Given the description of an element on the screen output the (x, y) to click on. 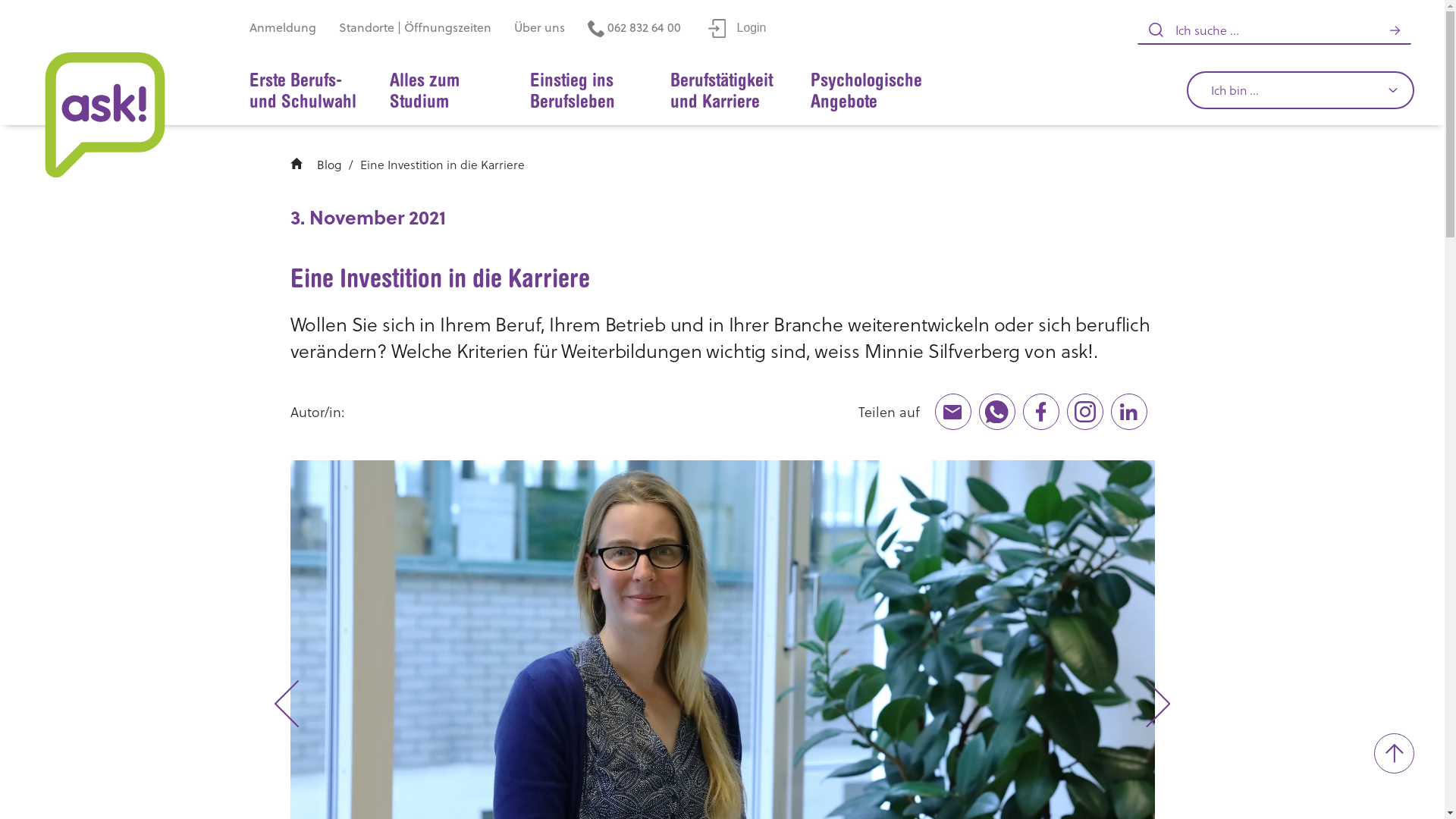
Alles zum Studium Element type: text (444, 91)
Login Element type: text (737, 27)
Erste Berufs- und Schulwahl Element type: text (304, 91)
Ich bin ... Element type: text (1300, 90)
Einstieg ins Berufsleben Element type: text (584, 91)
Login Element type: text (737, 28)
Blog Element type: text (329, 163)
062 832 64 00 Element type: text (633, 28)
Anmeldung Element type: text (282, 28)
Psychologische Angebote Element type: text (866, 91)
